Given the description of an element on the screen output the (x, y) to click on. 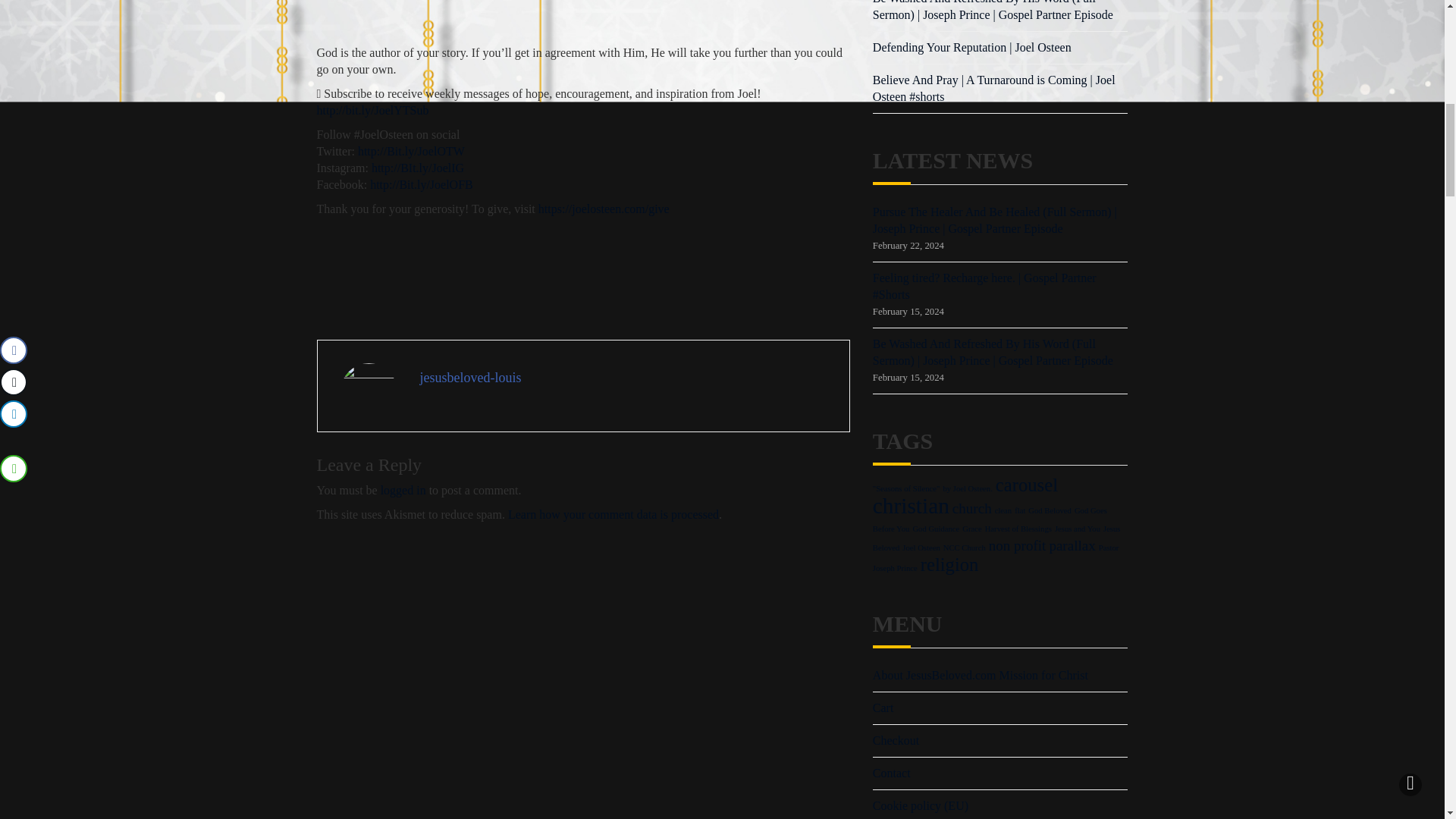
Learn how your comment data is processed (613, 513)
jesusbeloved-louis (470, 377)
logged in (403, 490)
